Given the description of an element on the screen output the (x, y) to click on. 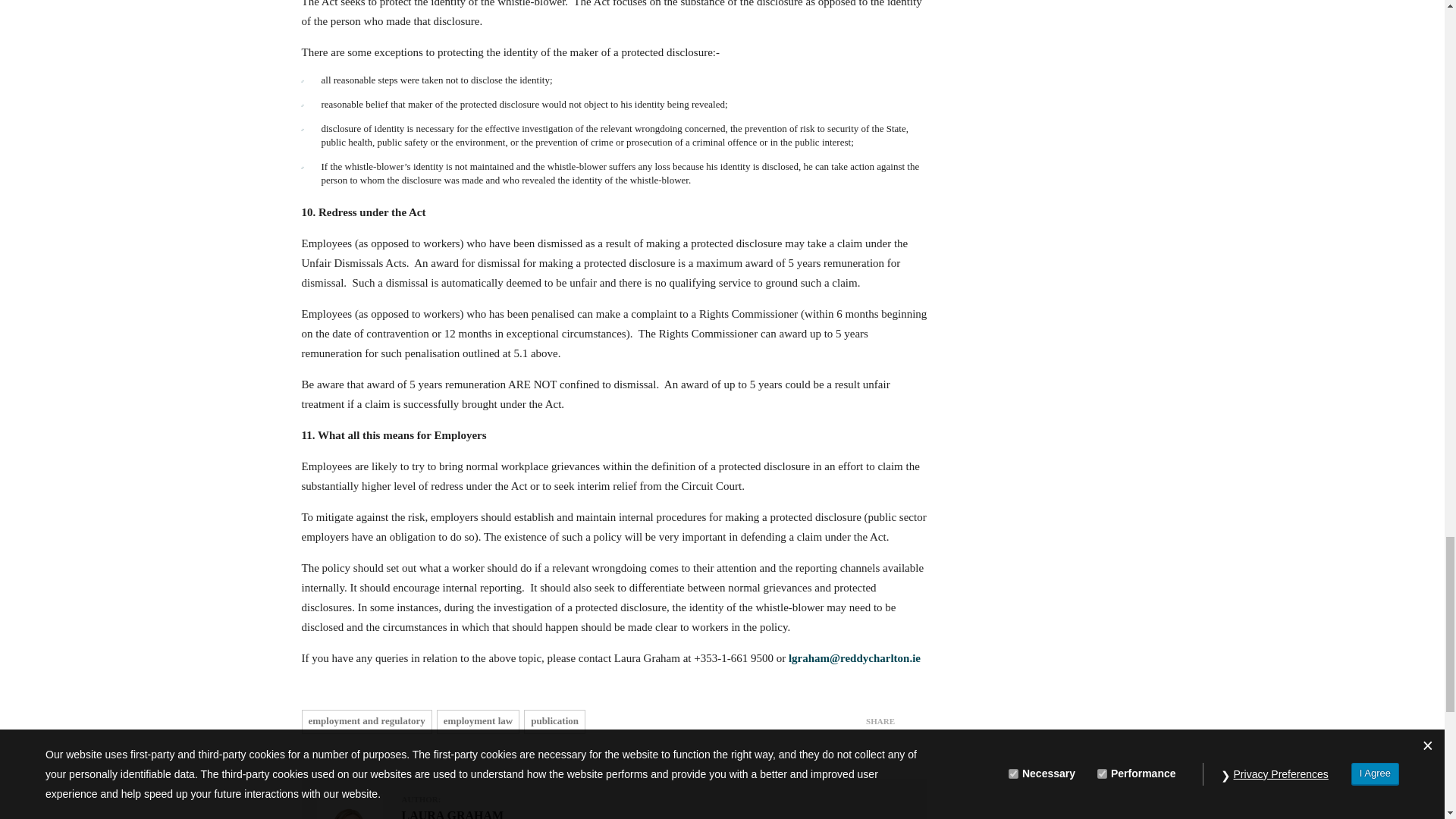
Opens window for sending email (854, 657)
